Given the description of an element on the screen output the (x, y) to click on. 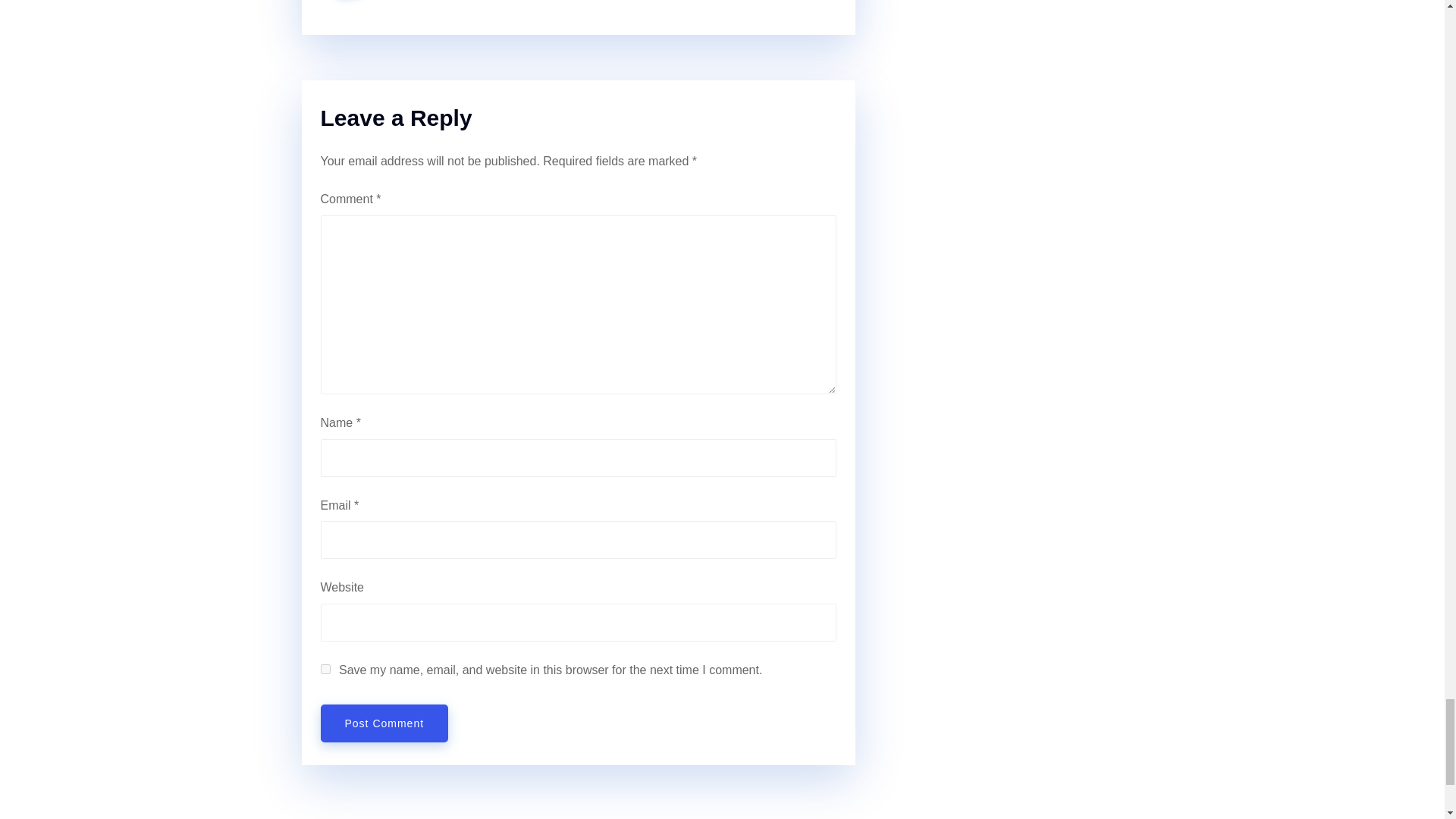
Post Comment (384, 723)
Post Comment (384, 723)
yes (325, 669)
